Given the description of an element on the screen output the (x, y) to click on. 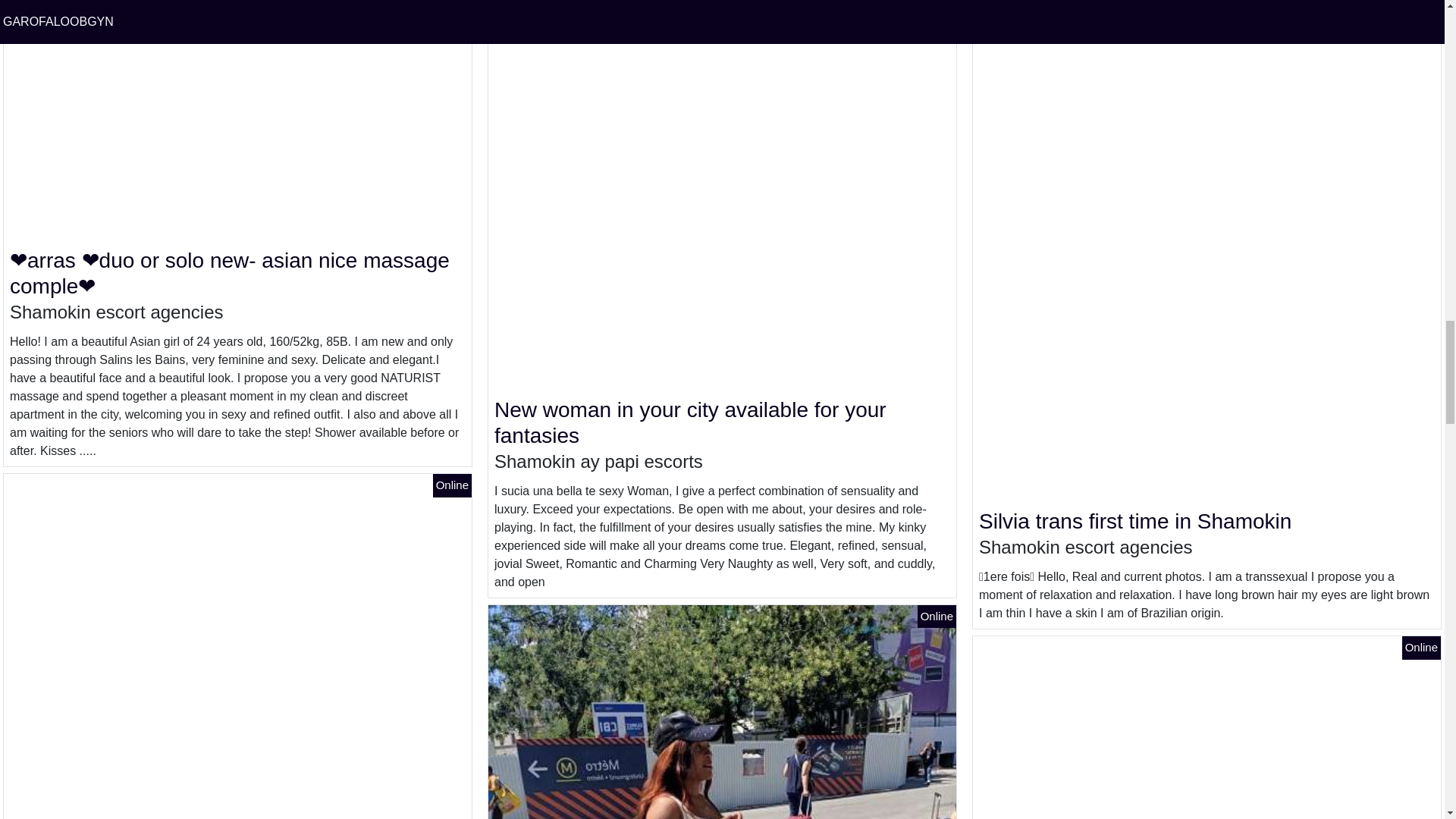
New woman in your city available for your fantasies (690, 422)
